Given the description of an element on the screen output the (x, y) to click on. 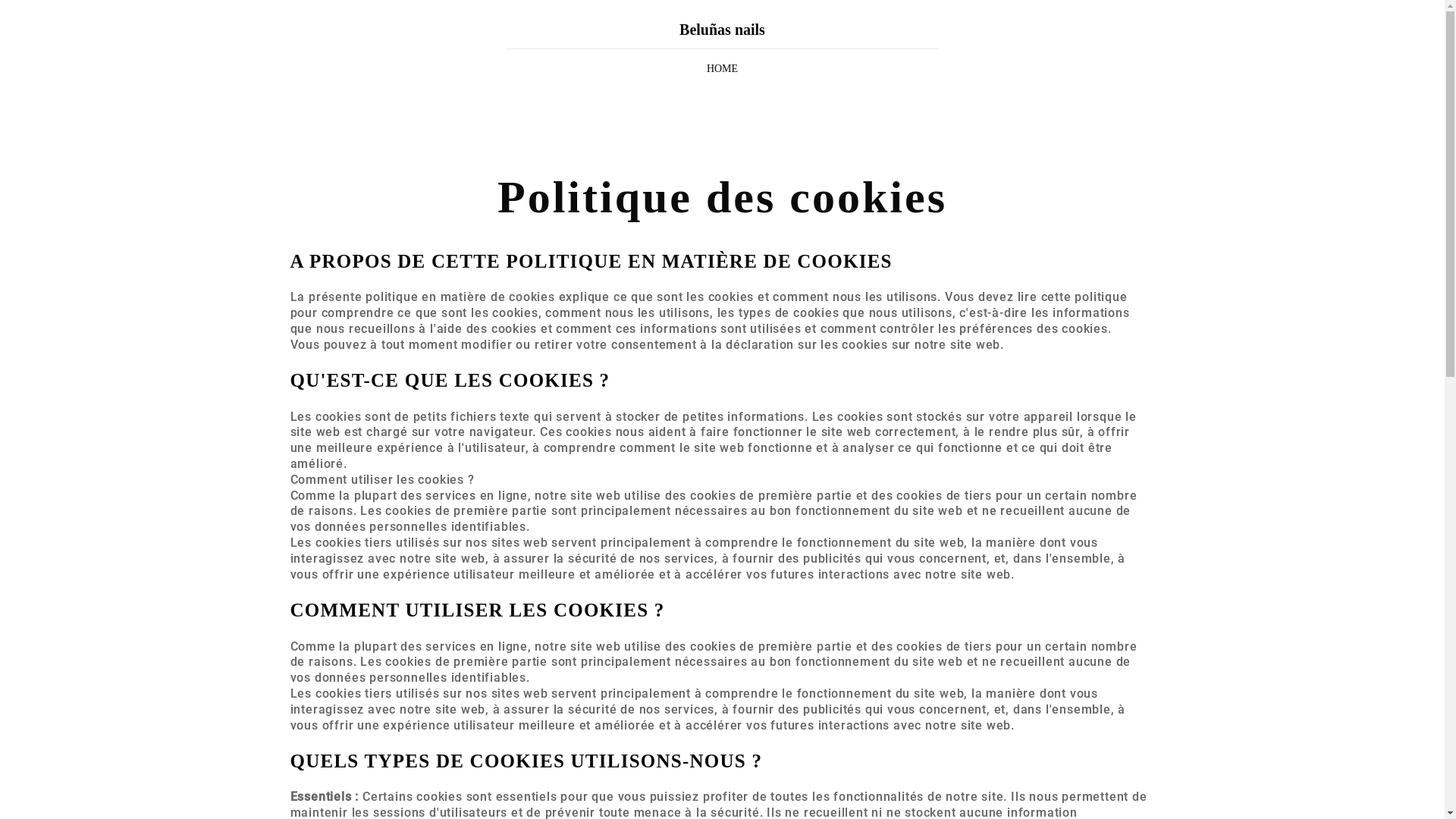
HOME Element type: text (722, 69)
